Given the description of an element on the screen output the (x, y) to click on. 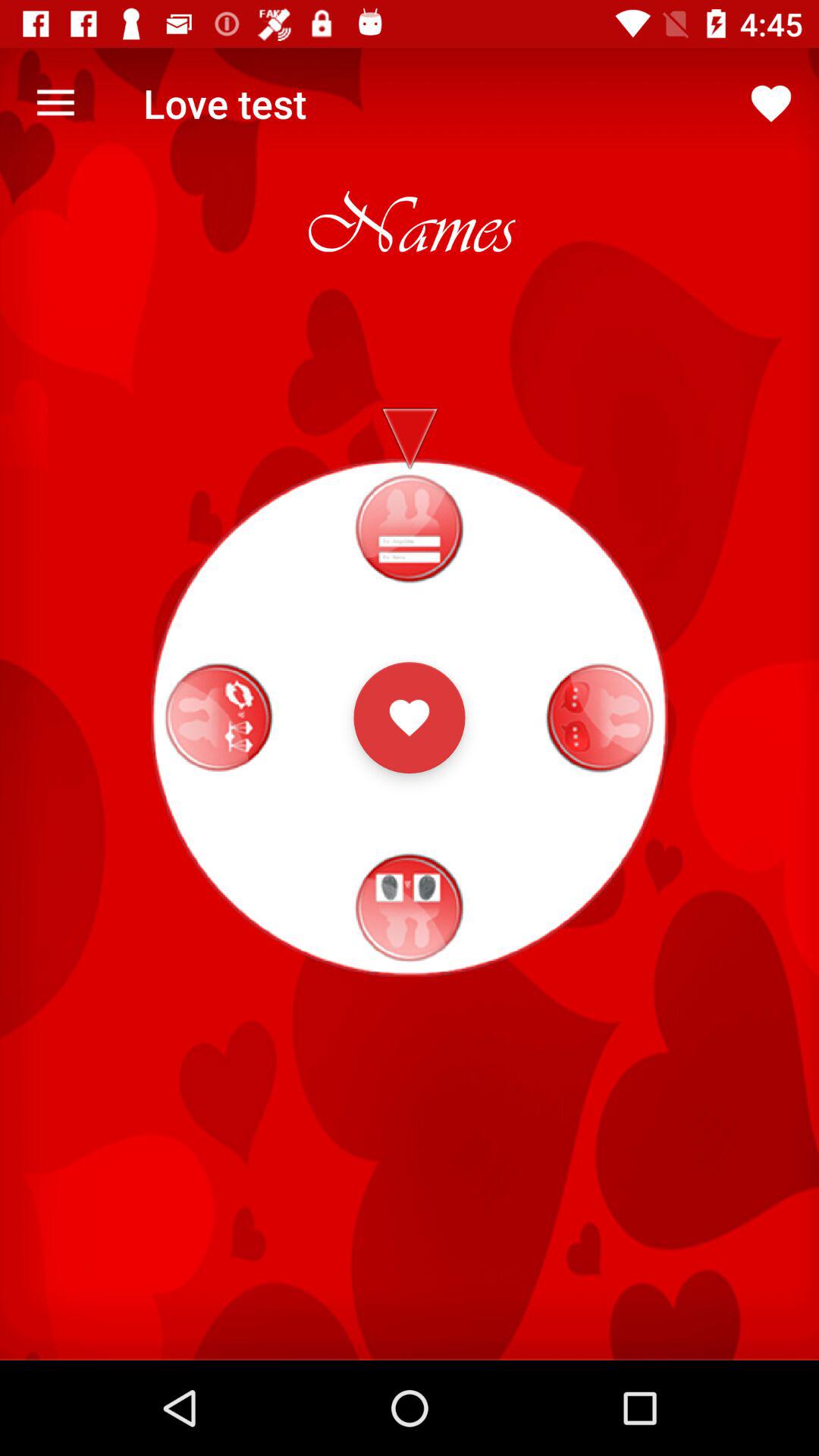
heart button (409, 717)
